Given the description of an element on the screen output the (x, y) to click on. 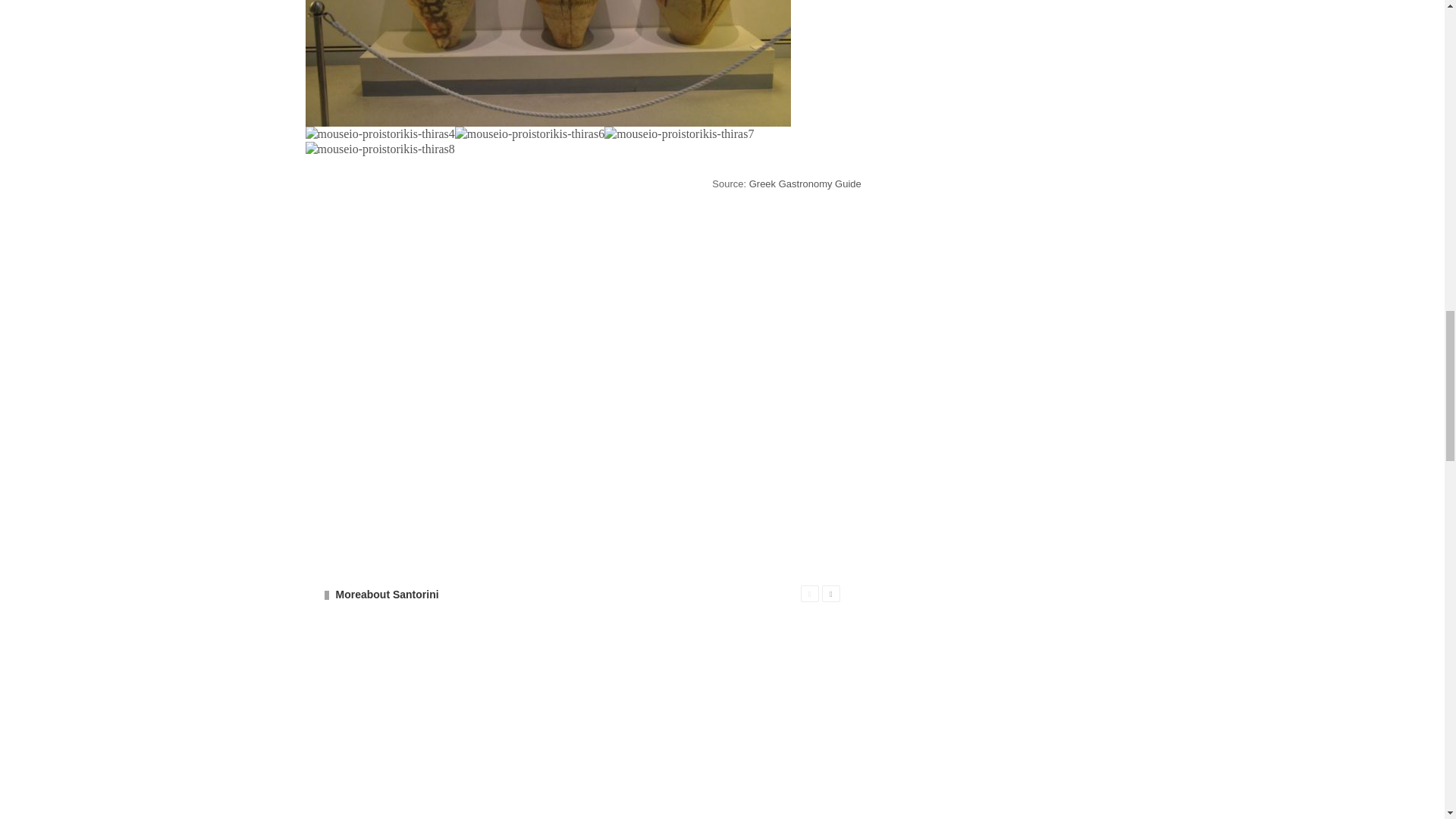
mouseio-proistorikis-thiras8 (379, 149)
mouseio-proistorikis-thiras7 (679, 133)
mouseio-proistorikis-thiras4 (379, 133)
mouseio-proistorikis-thiras3 (547, 63)
mouseio-proistorikis-thiras6 (529, 133)
